Given the description of an element on the screen output the (x, y) to click on. 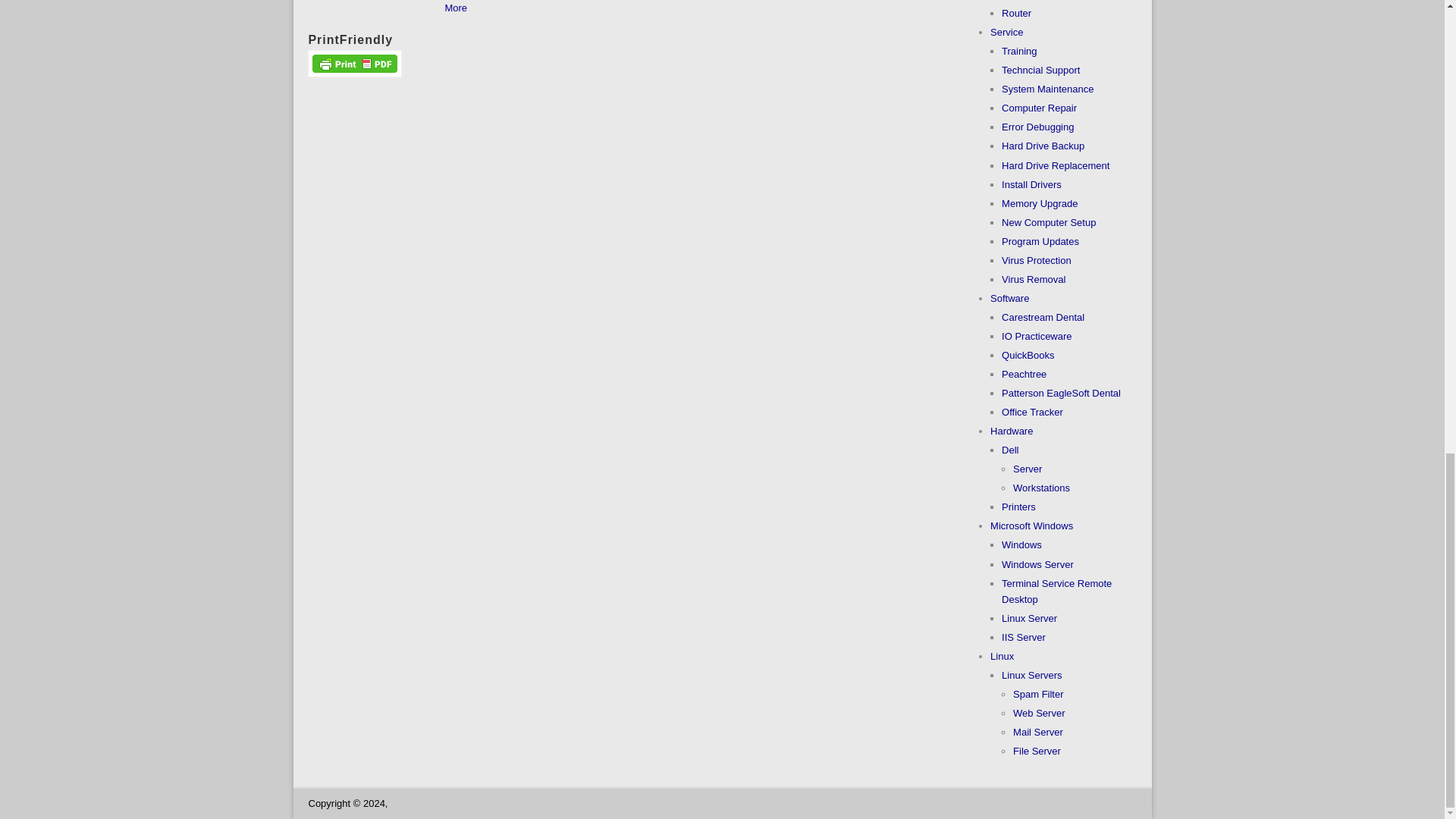
More (455, 7)
Read the latest blog entries. (455, 7)
